Given the description of an element on the screen output the (x, y) to click on. 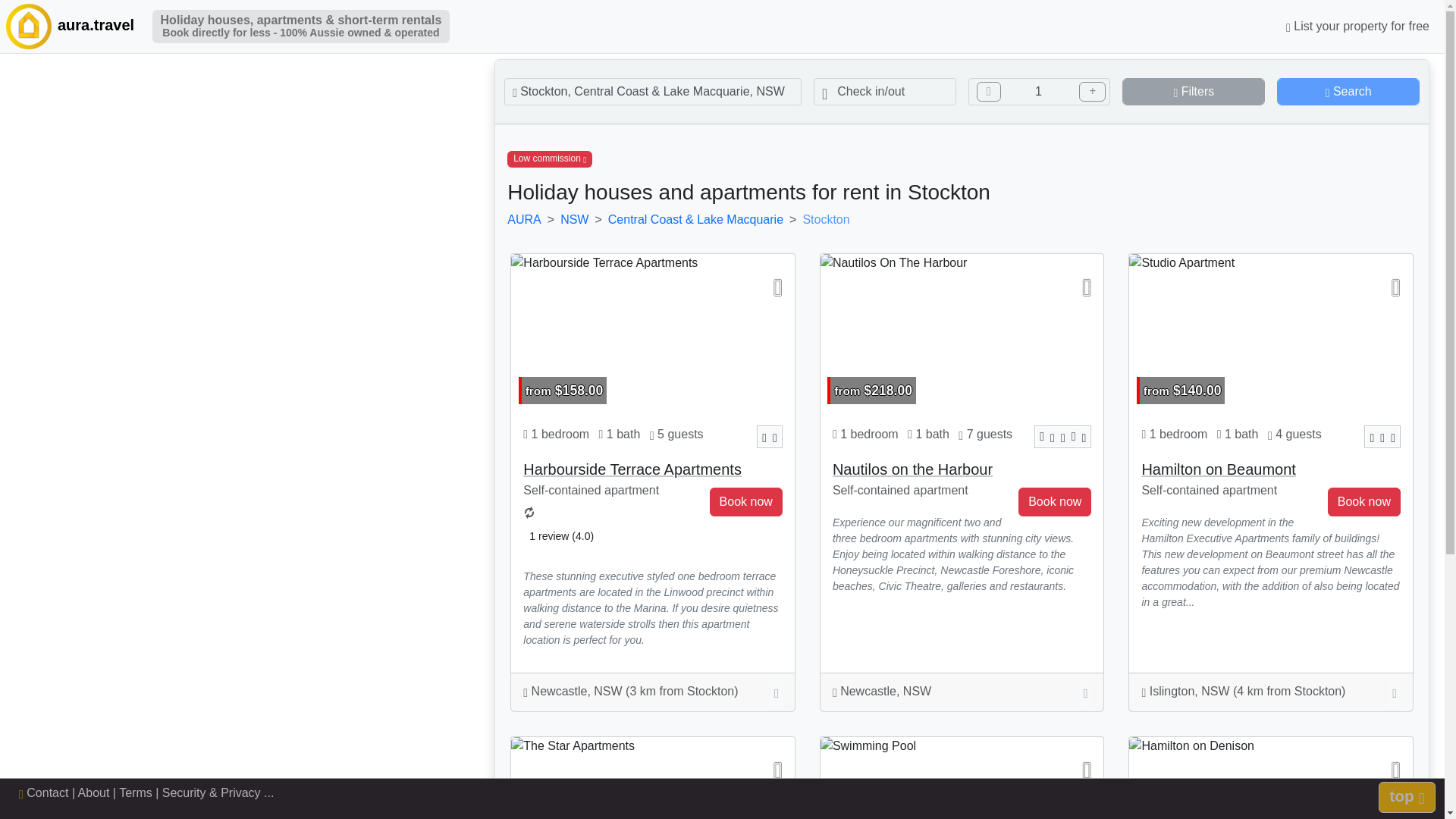
Search (1347, 91)
Book now (1053, 501)
4.0000 (531, 515)
Hamilton on Beaumont (1218, 469)
Low commission (549, 158)
List your property for free (1357, 26)
Book now (1363, 501)
Swimming Pool (962, 778)
Nautilos On The Harbour (962, 333)
Book now (746, 501)
